Given the description of an element on the screen output the (x, y) to click on. 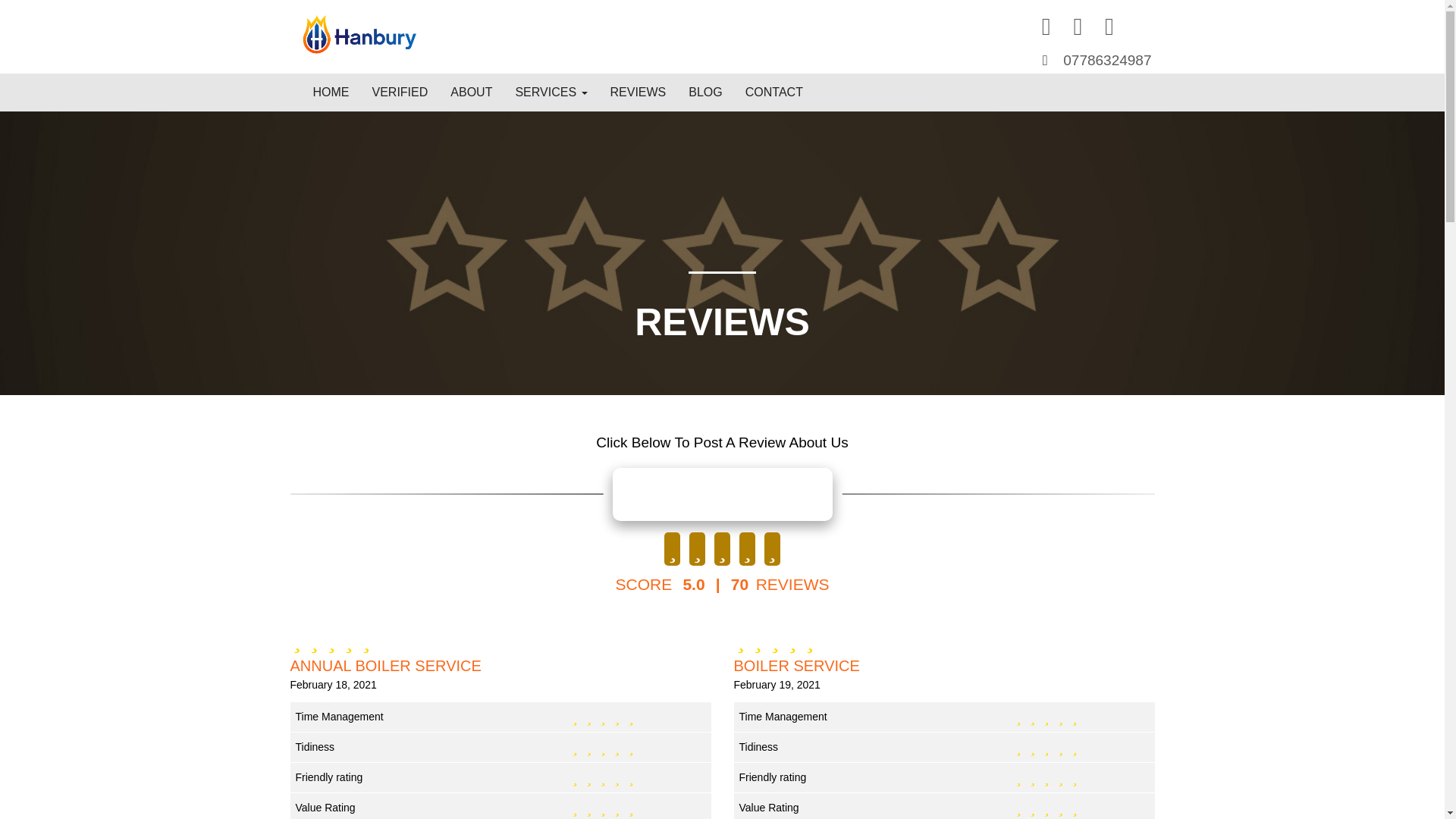
SERVICES (550, 92)
CONTACT (773, 92)
07786324987 (1106, 59)
BLOG (705, 92)
ANNUAL BOILER SERVICE (499, 665)
ABOUT (471, 92)
VERIFIED (400, 92)
REVIEWS (638, 92)
BOILER SERVICE (943, 665)
HOME (331, 92)
WRITE A REVIEW (722, 493)
